Given the description of an element on the screen output the (x, y) to click on. 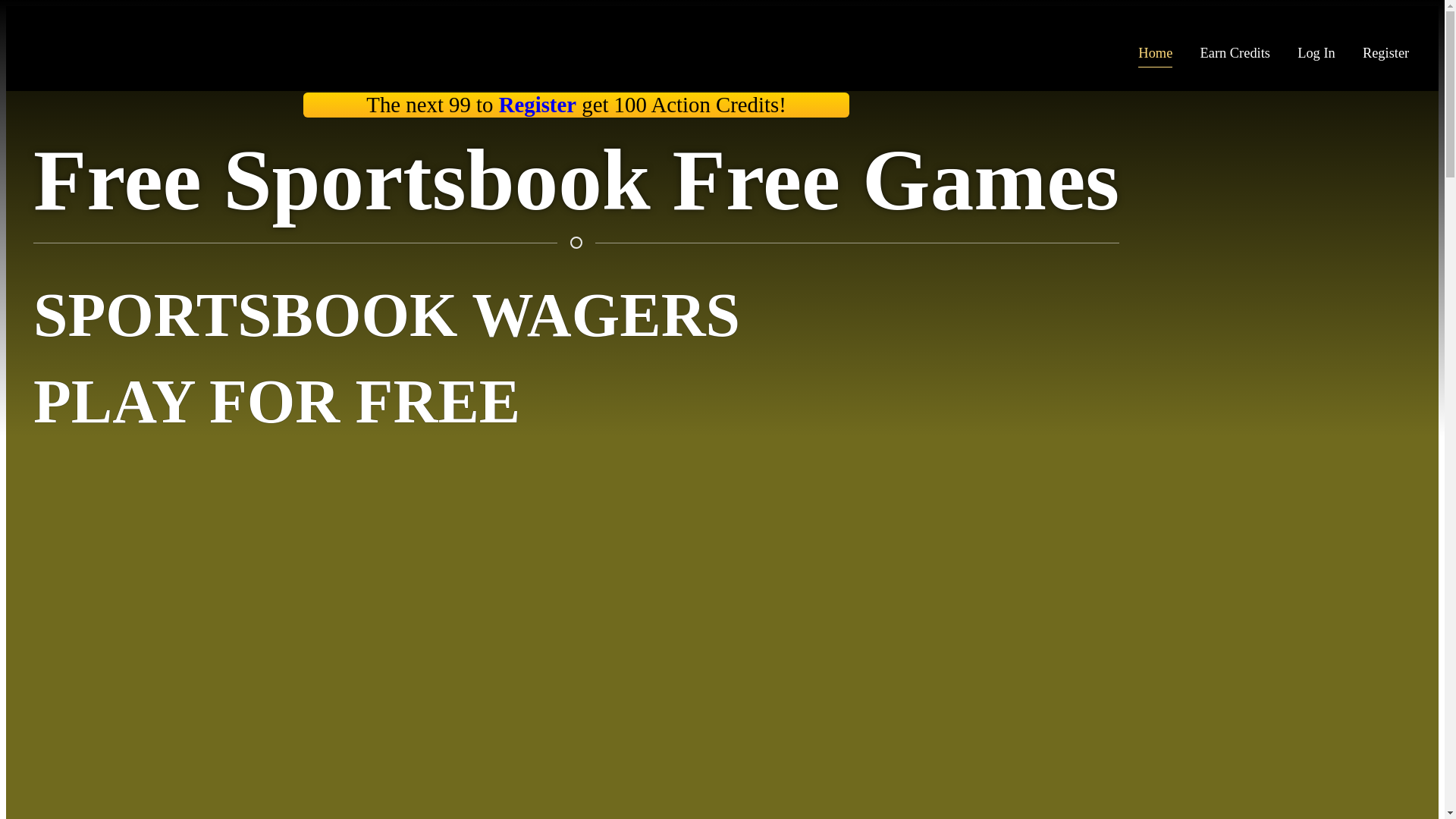
Log In Element type: text (1315, 53)
Register Element type: text (1385, 53)
Earn Credits Element type: text (1234, 53)
Home Element type: text (1154, 53)
Register Element type: text (537, 104)
